Given the description of an element on the screen output the (x, y) to click on. 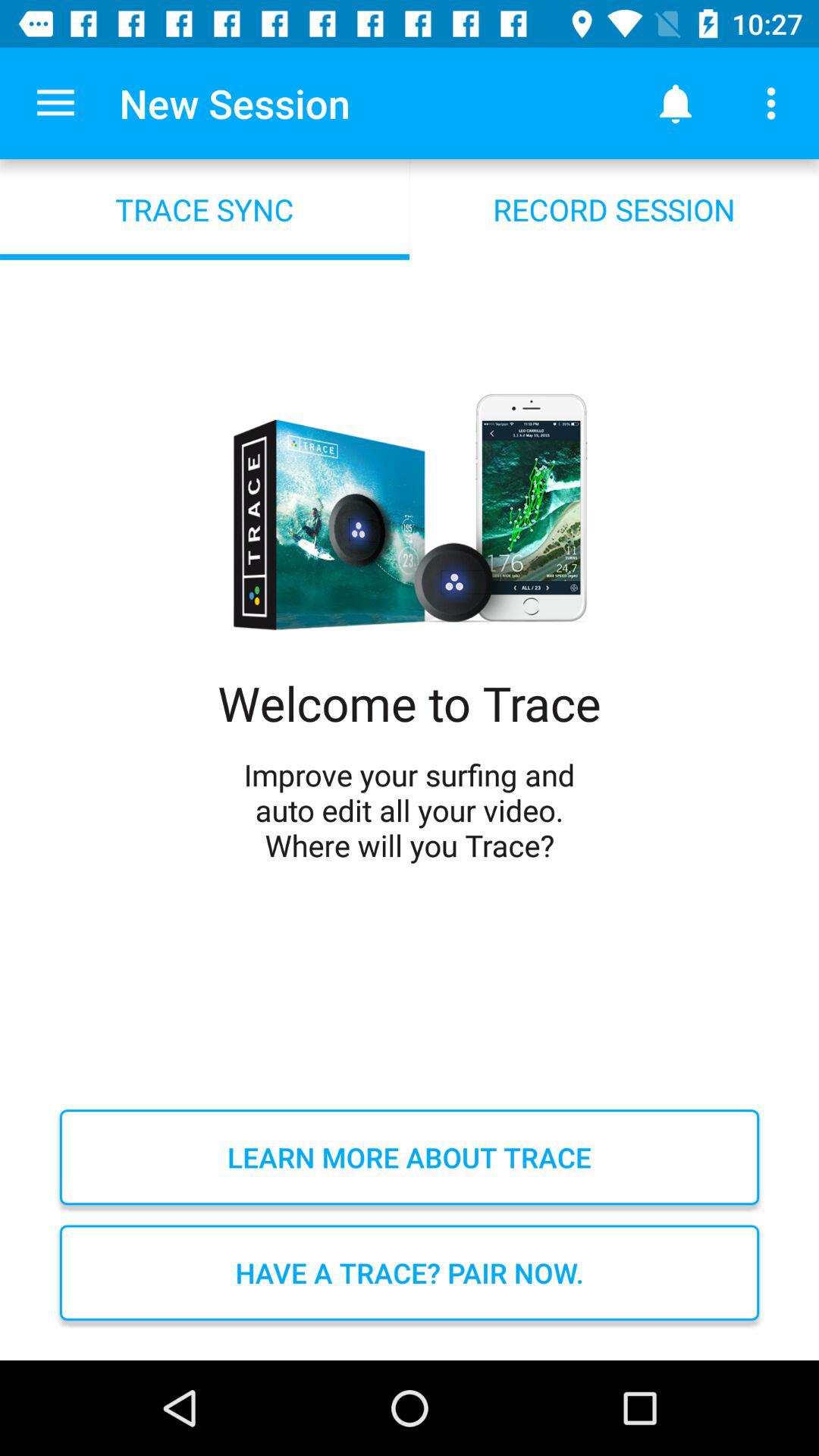
launch the app to the left of new session item (55, 103)
